Given the description of an element on the screen output the (x, y) to click on. 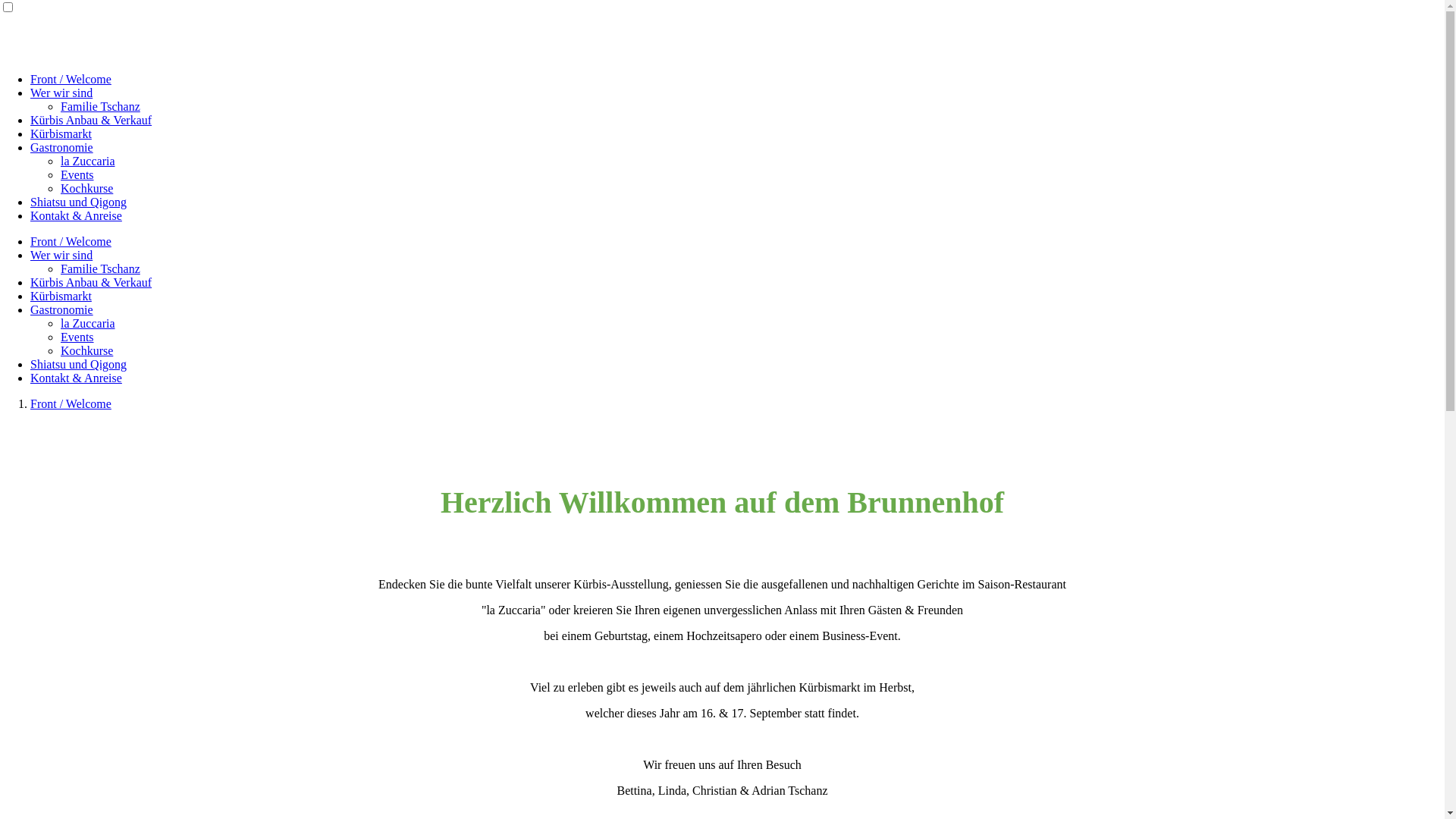
Events Element type: text (77, 174)
Wer wir sind Element type: text (61, 92)
Gastronomie Element type: text (61, 309)
Familie Tschanz Element type: text (100, 106)
Front / Welcome Element type: text (70, 78)
Front / Welcome Element type: text (70, 403)
Familie Tschanz Element type: text (100, 268)
Wer wir sind Element type: text (61, 254)
Kontakt & Anreise Element type: text (76, 215)
Kochkurse Element type: text (86, 188)
Events Element type: text (77, 336)
Shiatsu und Qigong Element type: text (78, 363)
Kontakt & Anreise Element type: text (76, 377)
Kochkurse Element type: text (86, 350)
la Zuccaria Element type: text (87, 322)
la Zuccaria Element type: text (87, 160)
Shiatsu und Qigong Element type: text (78, 201)
Front / Welcome Element type: text (70, 241)
Gastronomie Element type: text (61, 147)
